Given the description of an element on the screen output the (x, y) to click on. 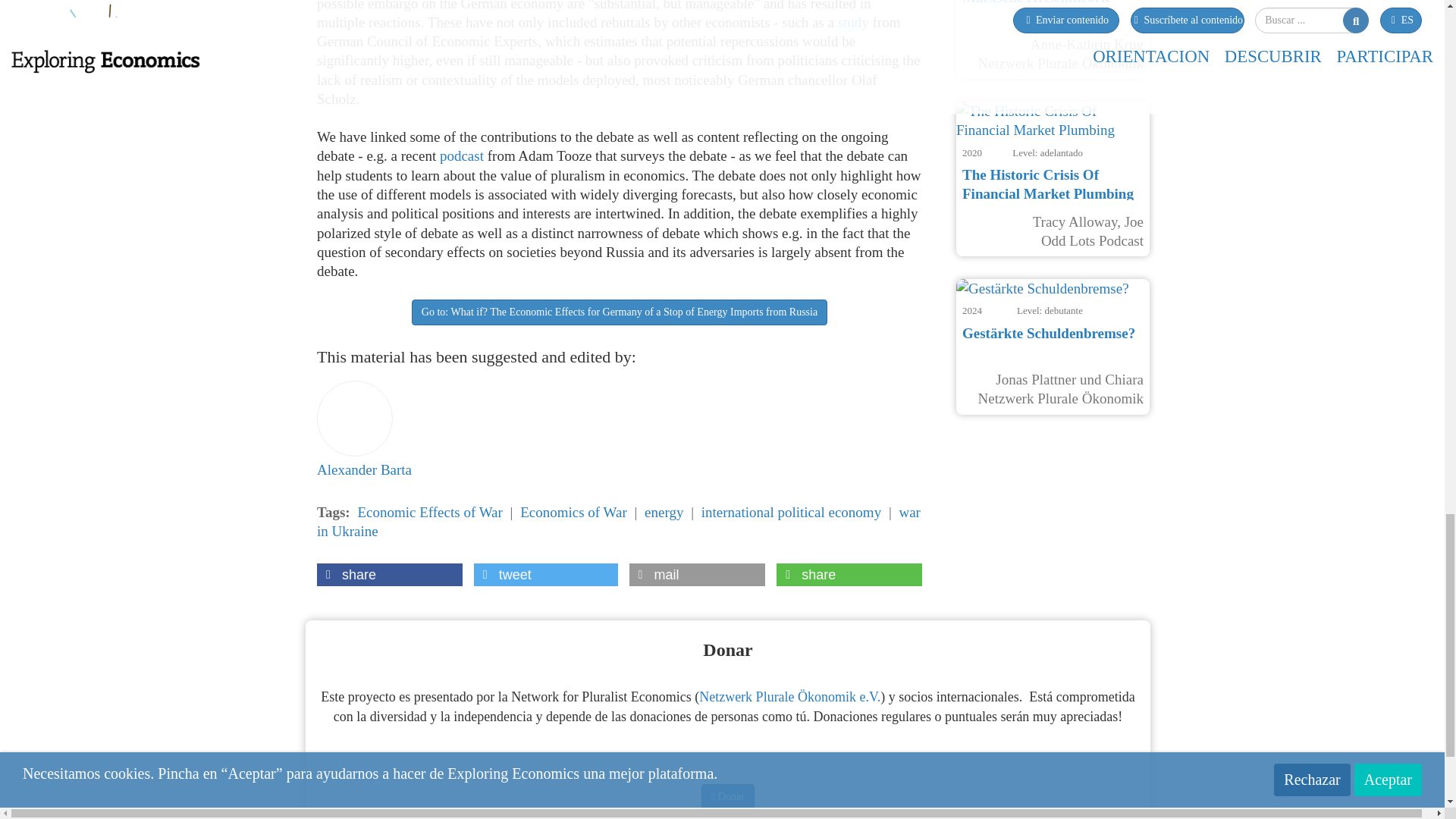
Economics of War (573, 512)
Share on Twitter (545, 574)
Share on Facebook (390, 574)
podcast (463, 155)
Economic Effects of War (429, 512)
Share on Whatsapp (848, 574)
Send by email (696, 574)
Alexander Barta (364, 426)
study (855, 22)
